Given the description of an element on the screen output the (x, y) to click on. 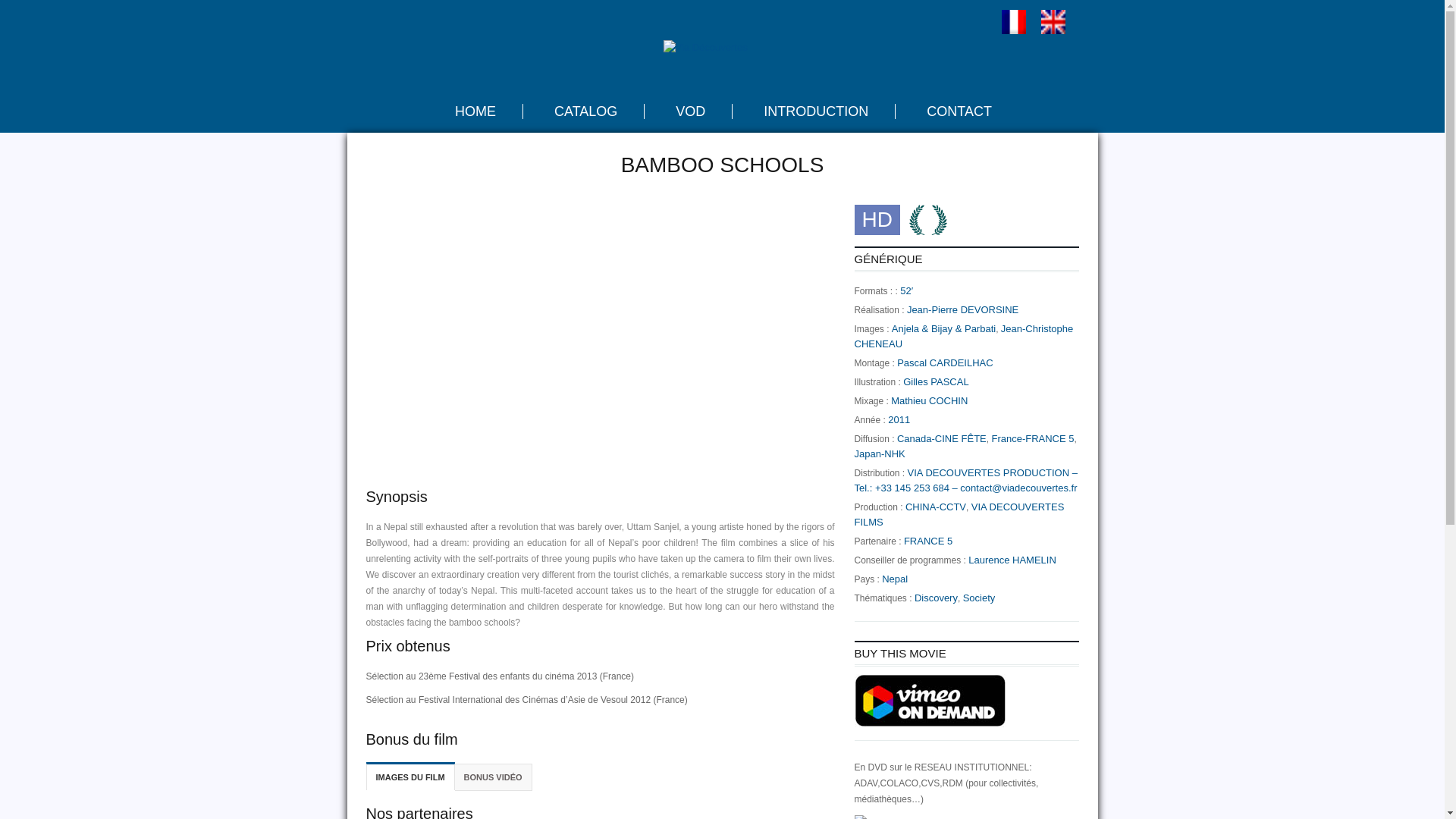
HOME (475, 111)
VOD (690, 111)
IMAGES DU FILM (409, 776)
CONTACT (958, 111)
CATALOG (586, 111)
INTRODUCTION (815, 111)
